Given the description of an element on the screen output the (x, y) to click on. 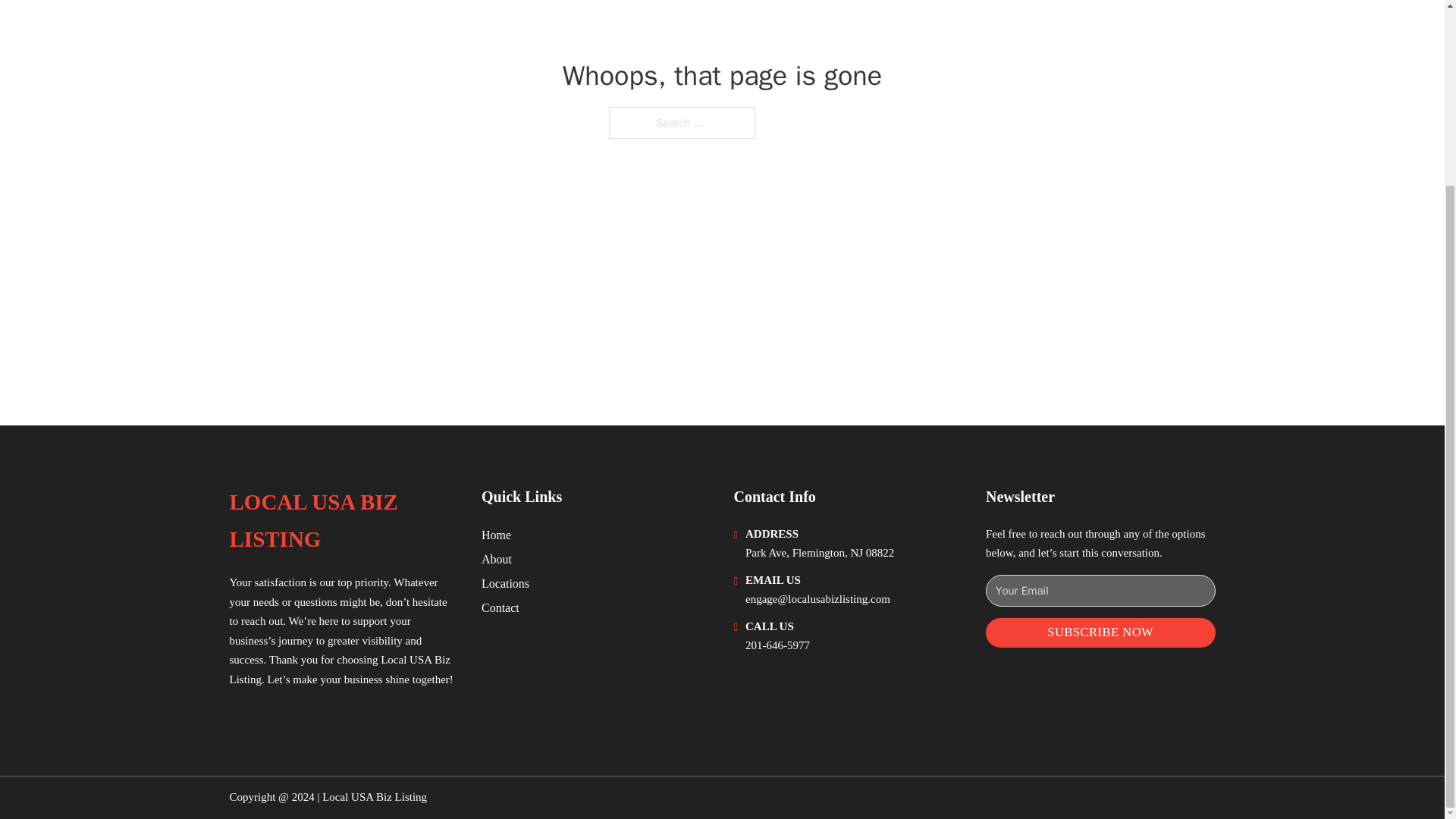
Locations (505, 583)
LOCAL USA BIZ LISTING (343, 521)
Home (496, 534)
Contact (500, 607)
About (496, 558)
201-646-5977 (777, 645)
SUBSCRIBE NOW (1100, 632)
